Given the description of an element on the screen output the (x, y) to click on. 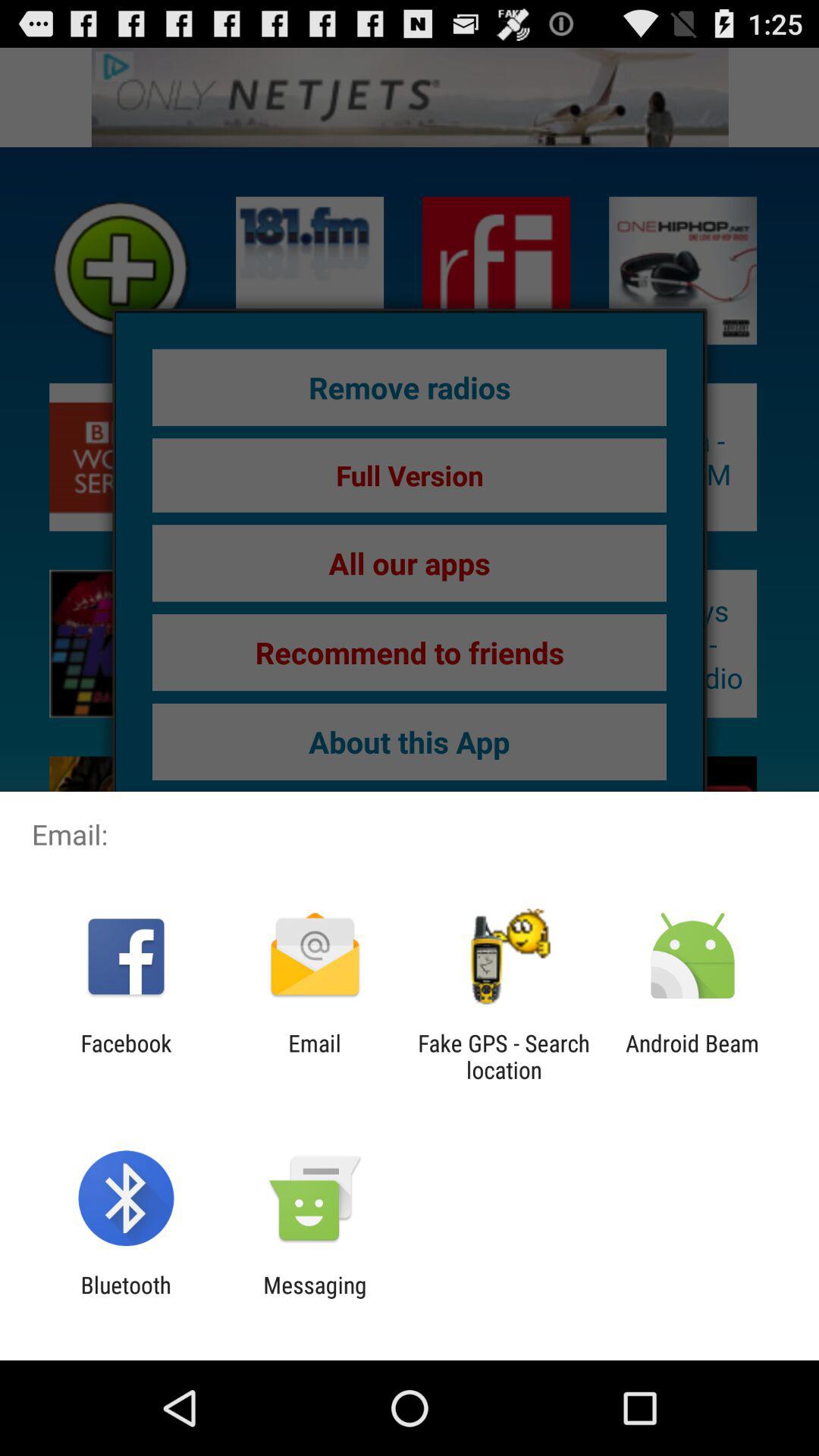
launch android beam at the bottom right corner (692, 1056)
